Given the description of an element on the screen output the (x, y) to click on. 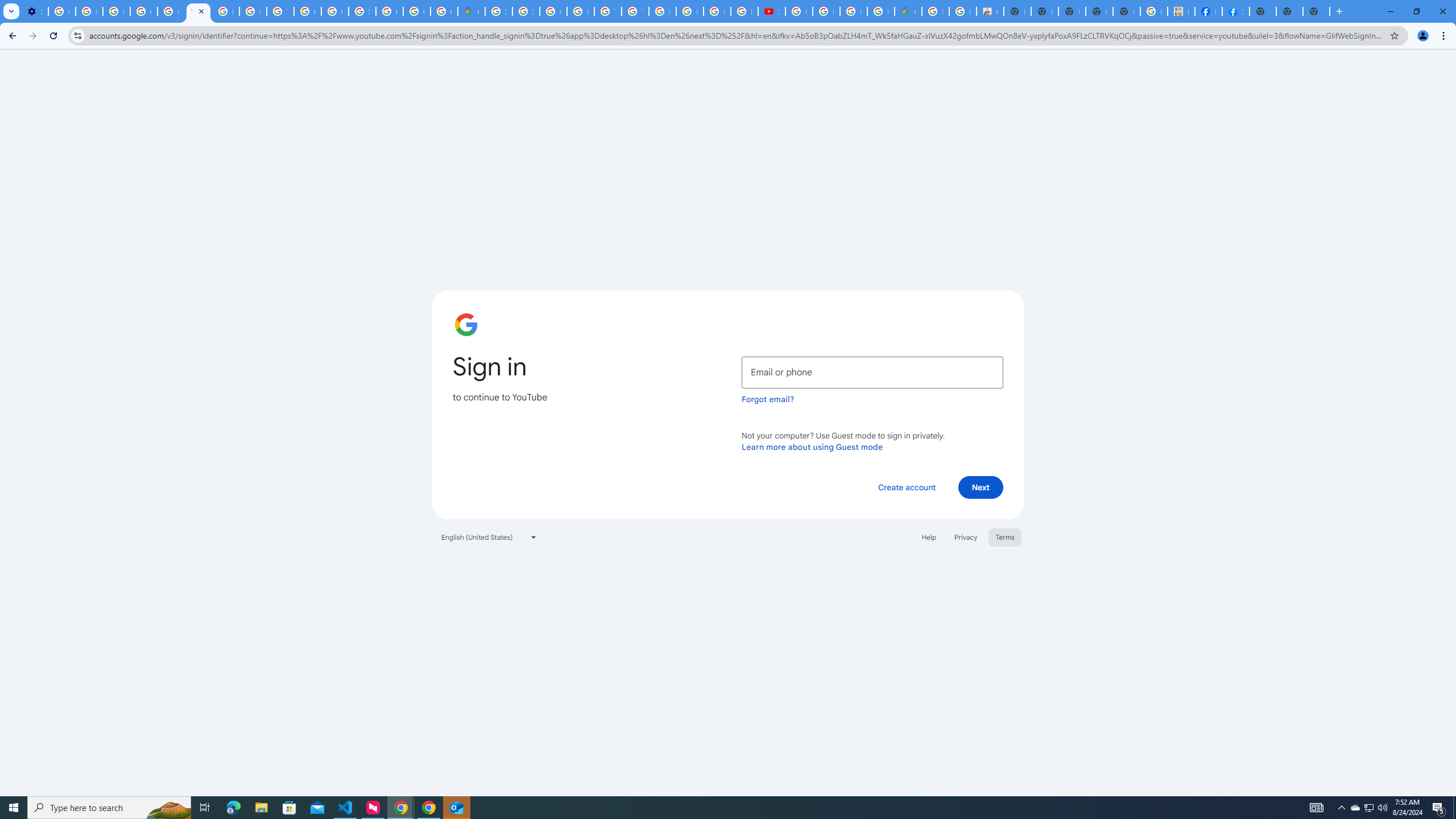
Google Maps (908, 11)
Blogger Policies and Guidelines - Transparency Center (662, 11)
Sign in - Google Accounts (362, 11)
Privacy Help Center - Policies Help (690, 11)
Learn how to find your photos - Google Photos Help (88, 11)
Email or phone (872, 372)
Chrome Web Store - Shopping (990, 11)
New Tab (1316, 11)
